Given the description of an element on the screen output the (x, y) to click on. 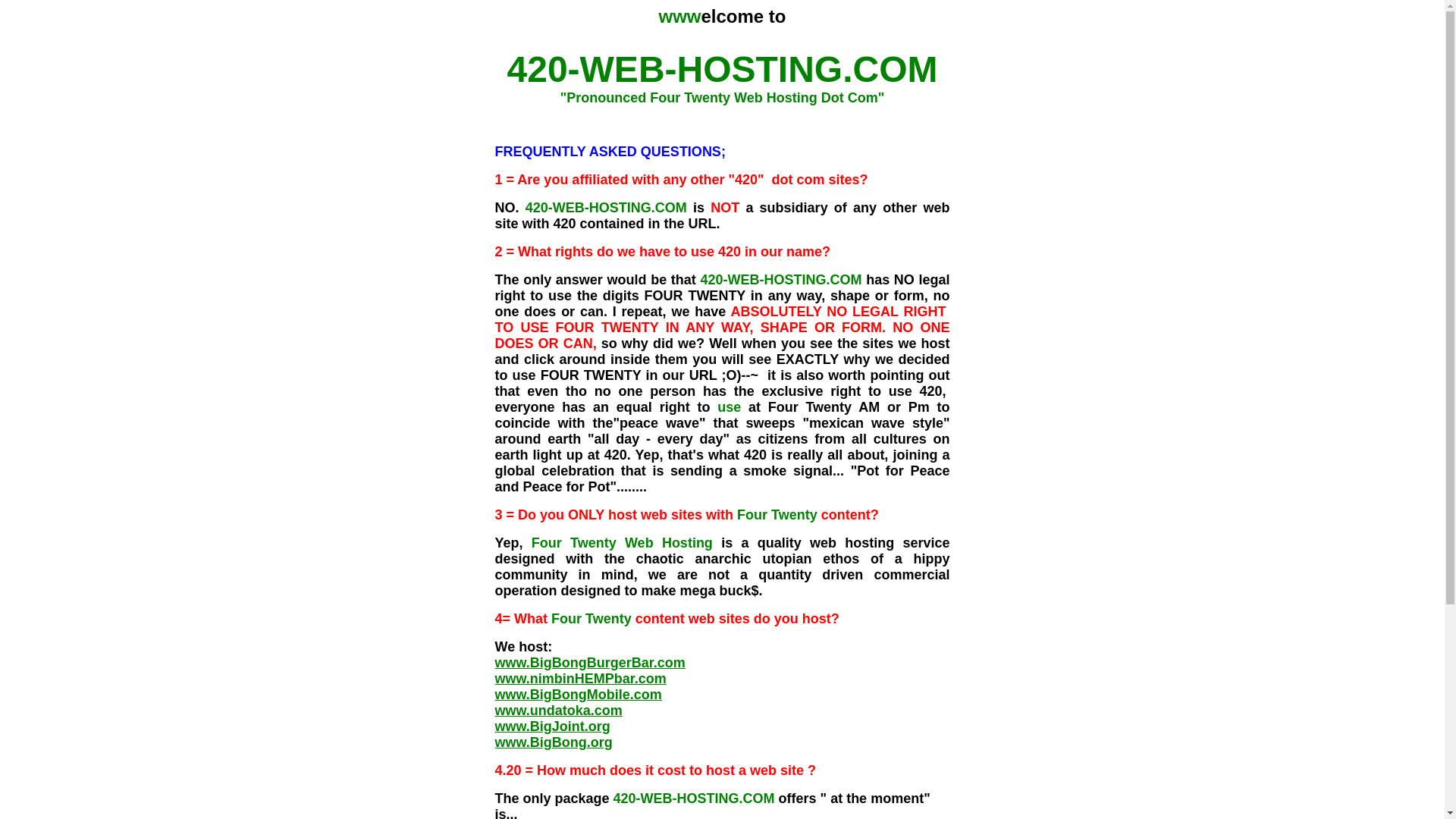
www.undatoka.com Element type: text (557, 710)
www.BigBongBurgerBar.com Element type: text (589, 662)
www.BigJoint.org Element type: text (551, 726)
www.BigBongMobile.com Element type: text (577, 694)
www.BigBong.org Element type: text (552, 741)
www.nimbinHEMPbar.com Element type: text (579, 678)
